Given the description of an element on the screen output the (x, y) to click on. 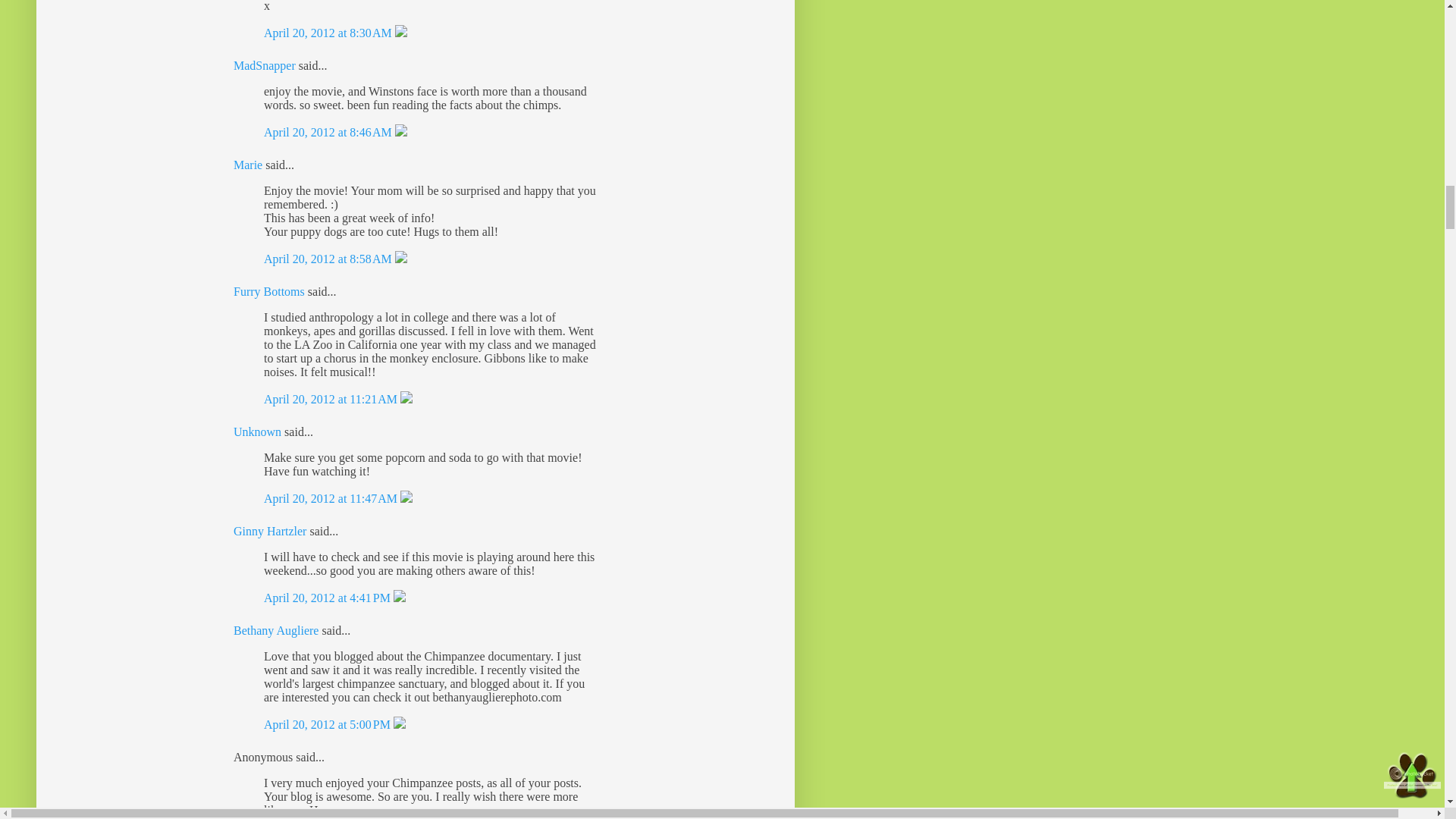
comment permalink (328, 32)
Delete Comment (406, 498)
Delete Comment (400, 132)
comment permalink (328, 597)
MadSnapper (263, 65)
Delete Comment (400, 258)
Delete Comment (406, 399)
Marie (248, 164)
comment permalink (331, 498)
comment permalink (328, 258)
Delete Comment (400, 32)
comment permalink (328, 132)
Delete Comment (399, 597)
